Given the description of an element on the screen output the (x, y) to click on. 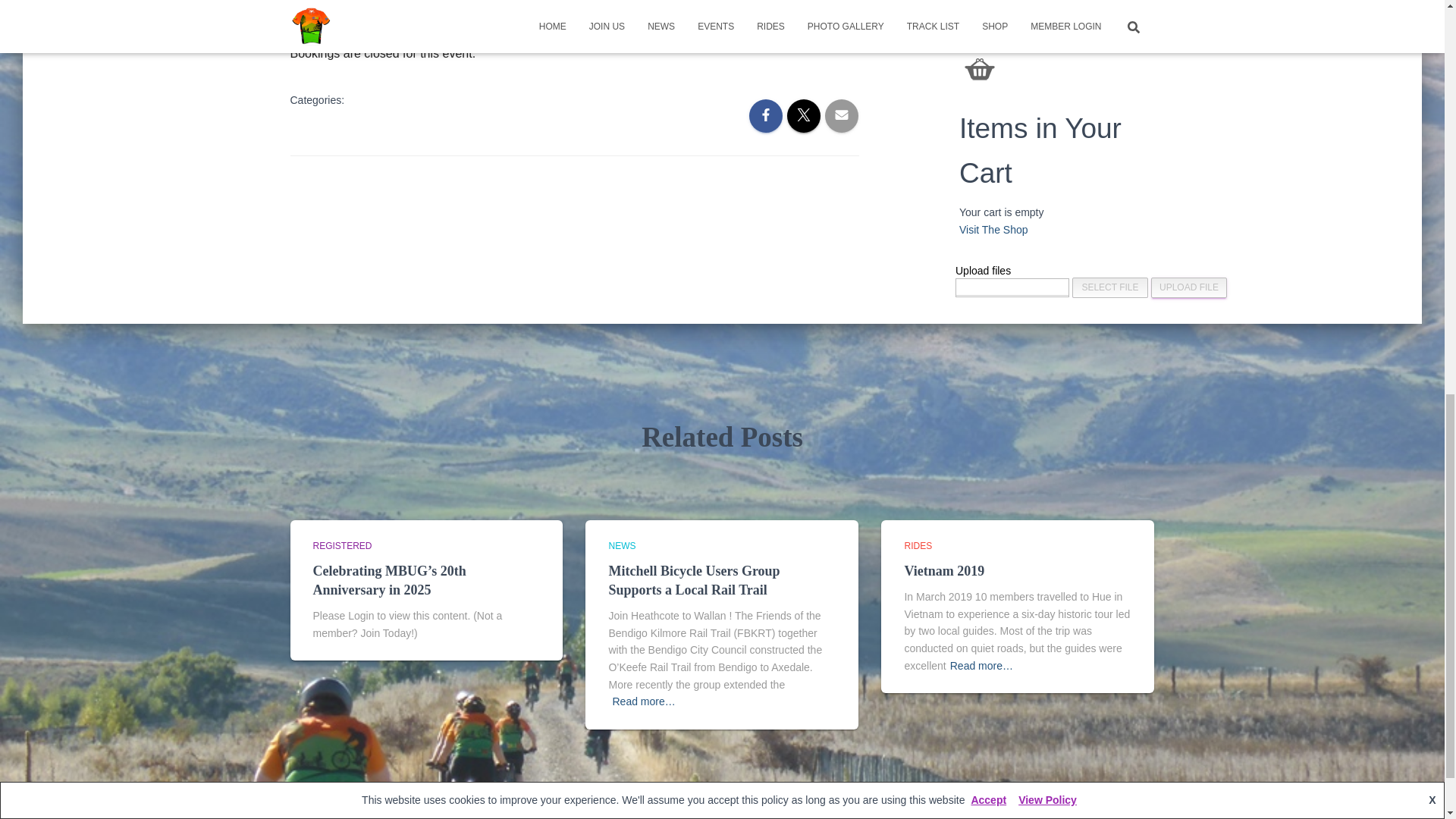
Select File (1109, 287)
RIDES (917, 545)
Shopping Cart (979, 68)
NEWS (621, 545)
Mitchell Bicycle Users Group Supports a Local Rail Trail (693, 580)
REGISTERED (342, 545)
Upload File (1189, 287)
Visit The Shop (993, 229)
